Given the description of an element on the screen output the (x, y) to click on. 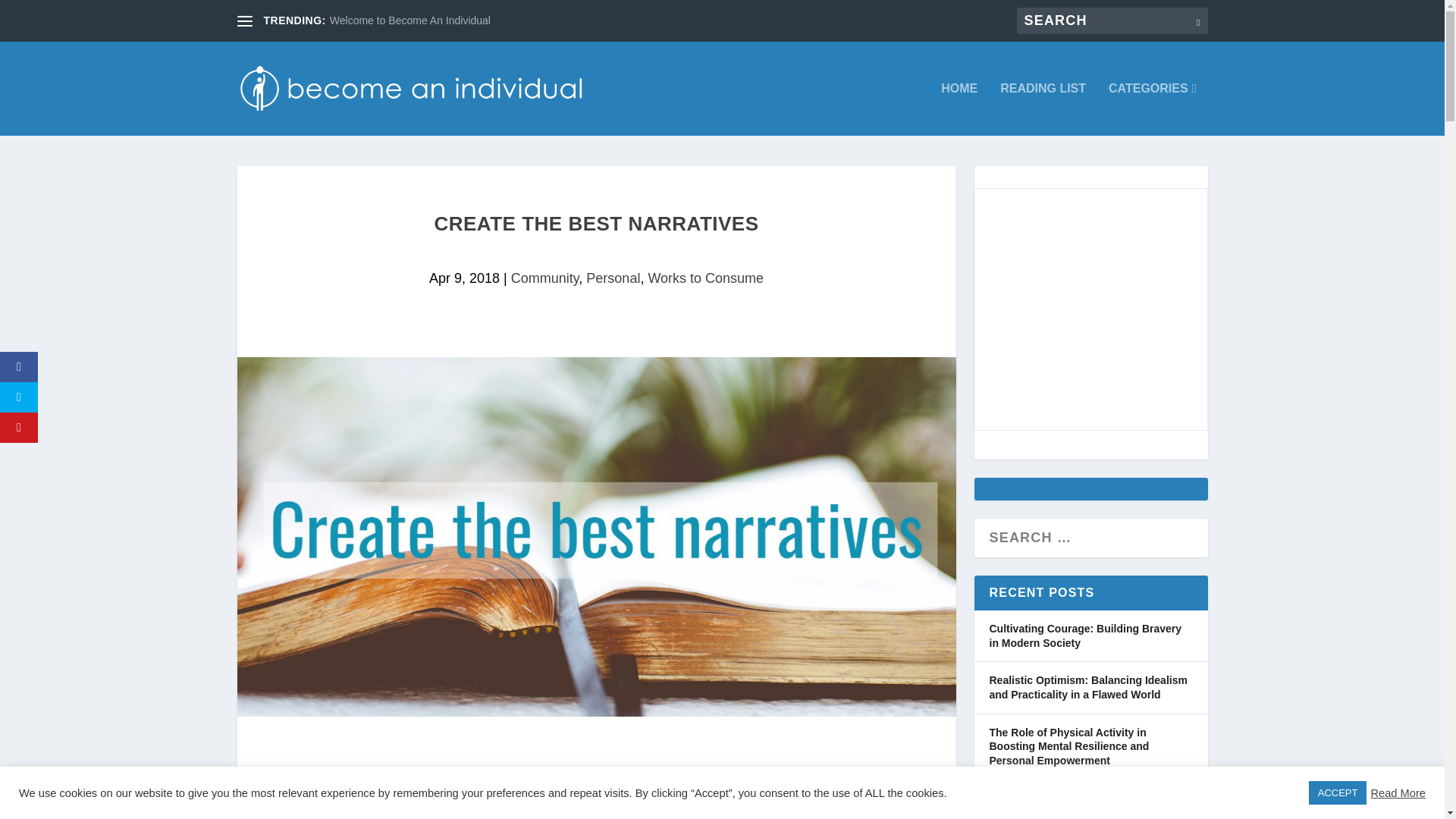
Personal (613, 278)
CATEGORIES (1151, 108)
Works to Consume (704, 278)
READING LIST (1043, 108)
Community (545, 278)
Welcome to Become An Individual (410, 20)
Search for: (1111, 20)
